Given the description of an element on the screen output the (x, y) to click on. 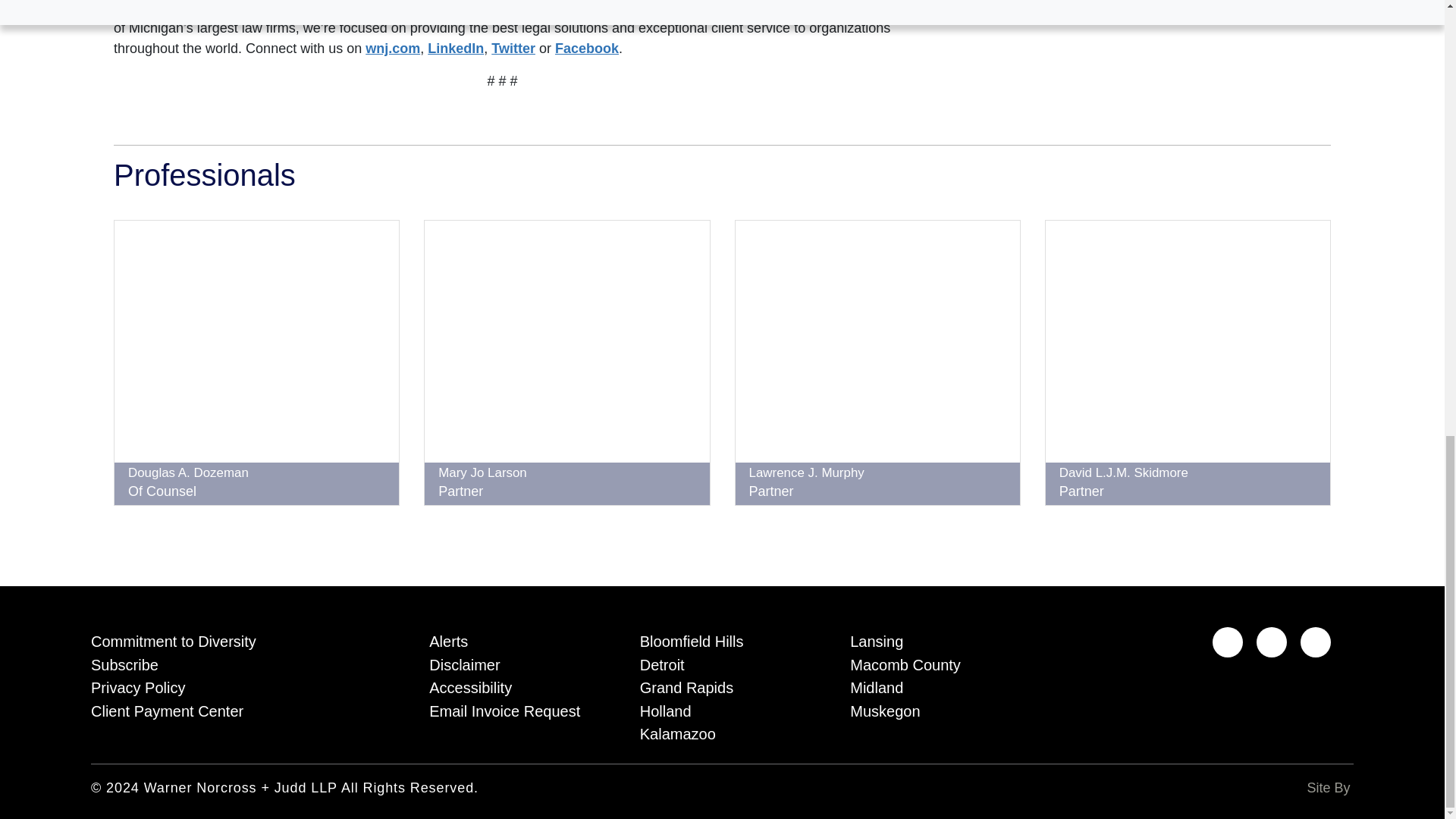
Mary Jo Larson (482, 472)
wnj.com (392, 48)
Subscribe (237, 662)
Facebook (586, 48)
Alerts (511, 638)
Twitter (513, 48)
Commitment to Diversity (237, 638)
Linkedin (1227, 642)
LinkedIn (455, 48)
Client Payment Center (237, 708)
